Given the description of an element on the screen output the (x, y) to click on. 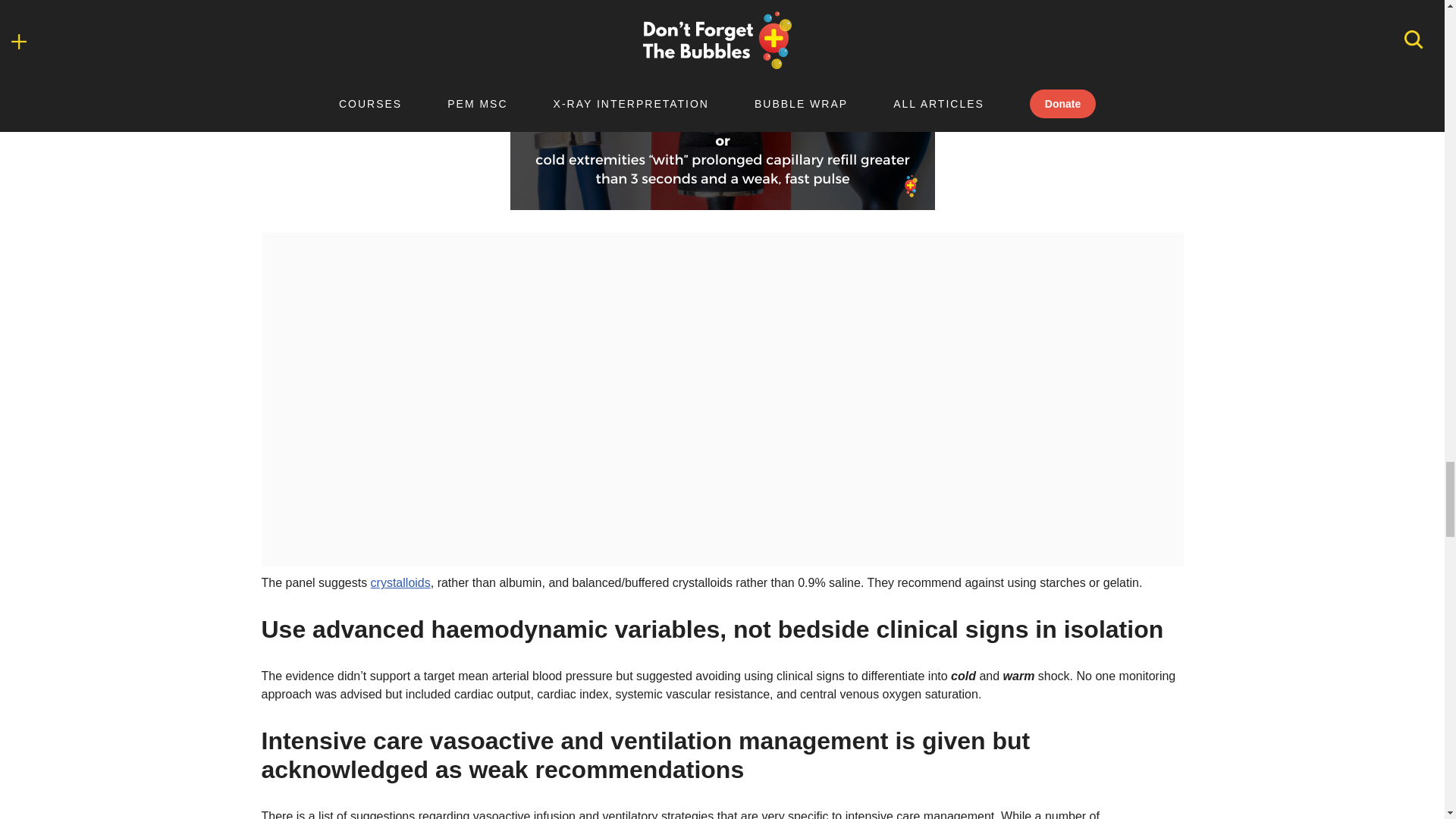
hypotension (721, 104)
